Given the description of an element on the screen output the (x, y) to click on. 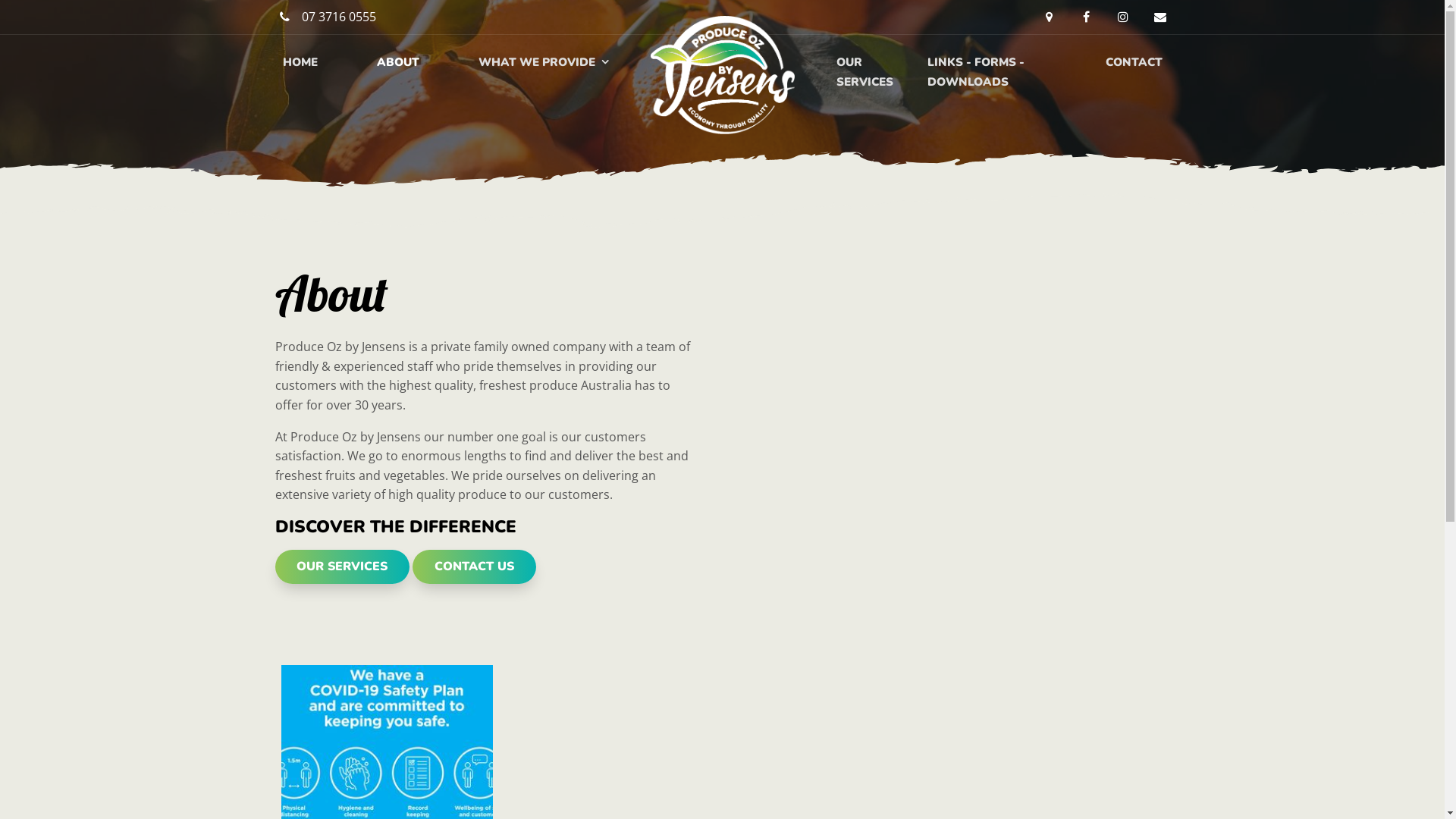
CONTACT US Element type: text (474, 566)
HOME Element type: text (299, 62)
OUR SERVICES Element type: text (873, 72)
OUR SERVICES Element type: text (341, 566)
WHAT WE PROVIDE Element type: text (542, 62)
LINKS - FORMS - DOWNLOADS Element type: text (1008, 72)
CONTACT Element type: text (1134, 62)
ABOUT Element type: text (397, 62)
